Given the description of an element on the screen output the (x, y) to click on. 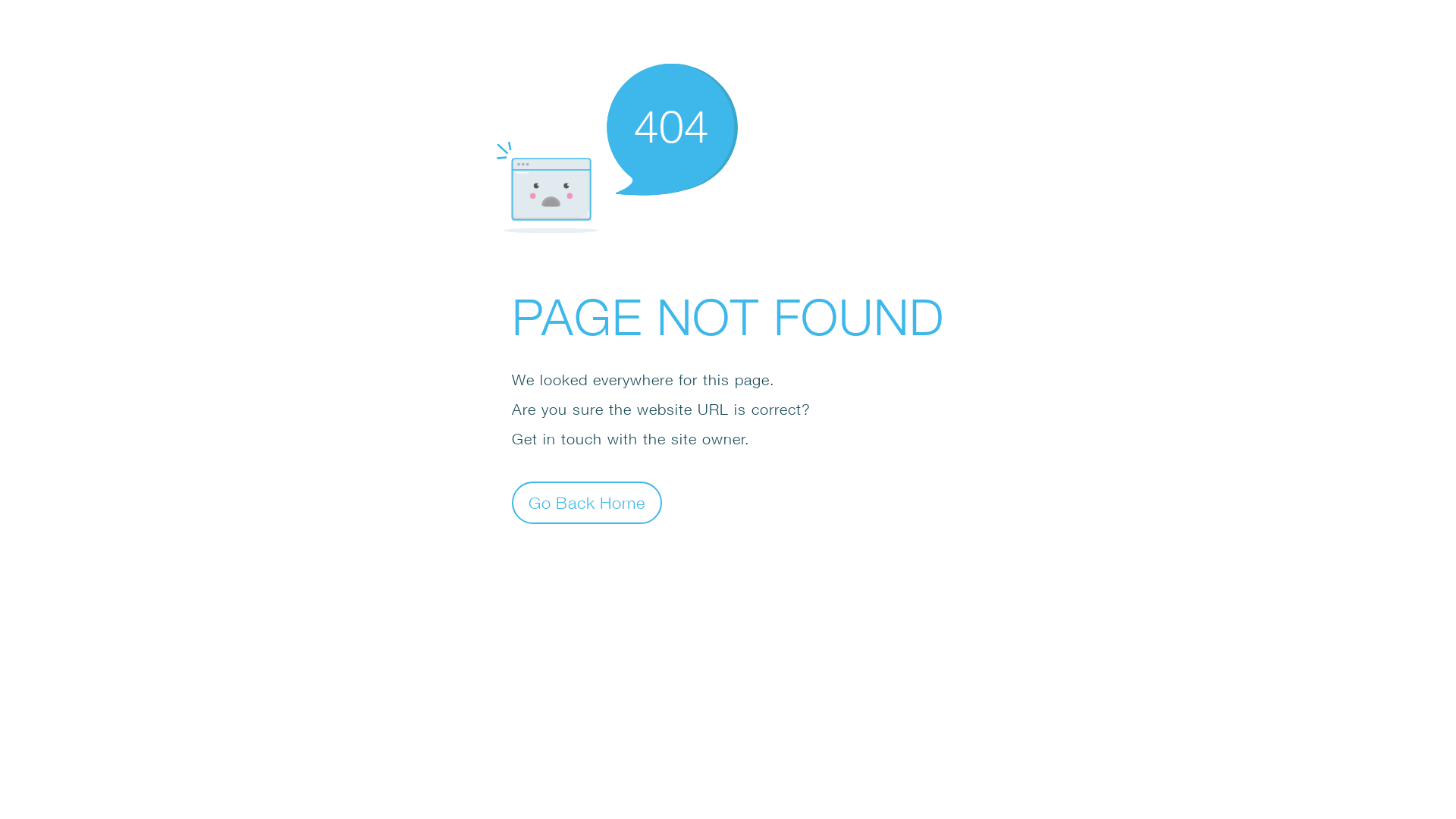
Go Back Home Element type: text (586, 502)
